Given the description of an element on the screen output the (x, y) to click on. 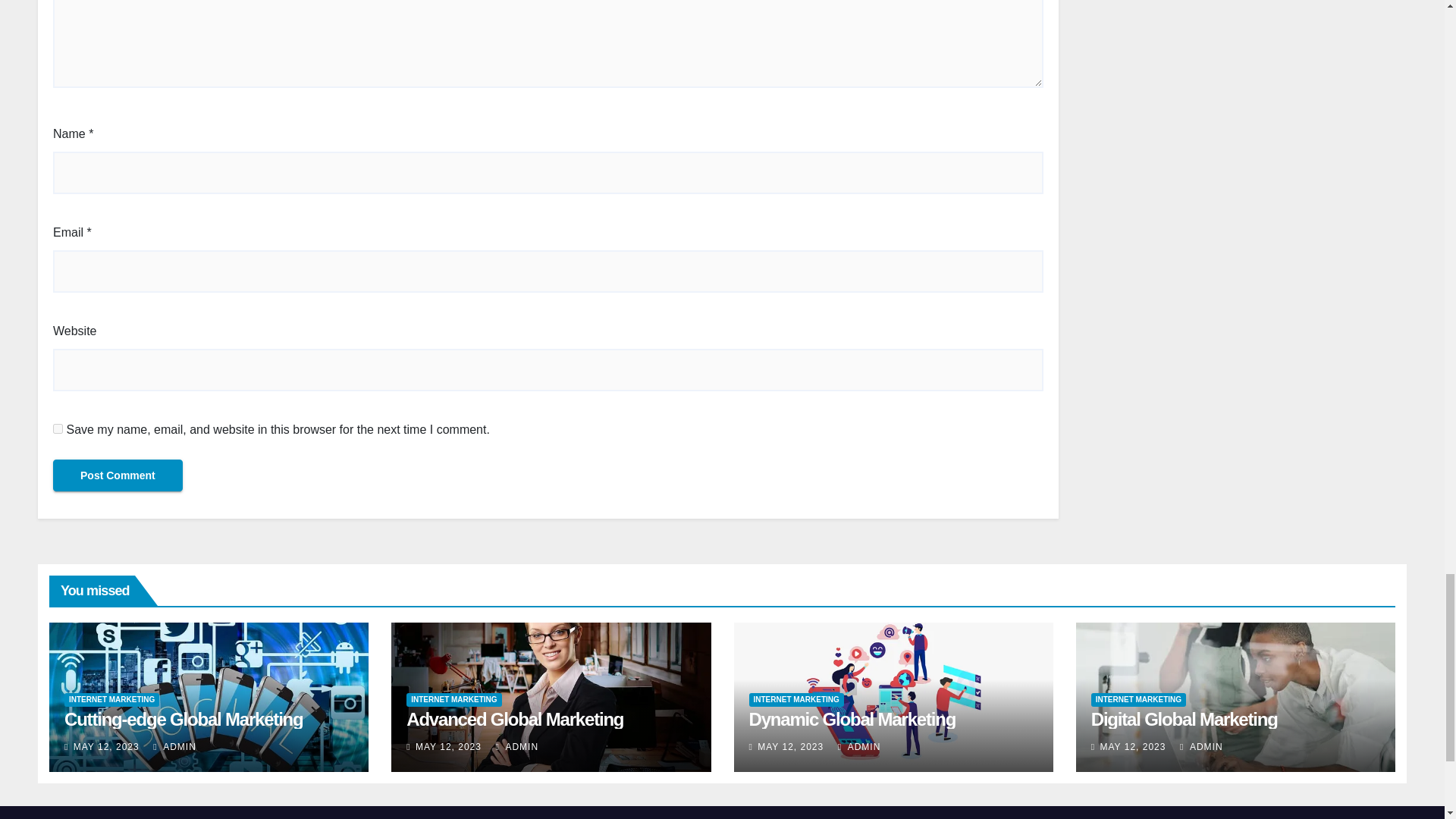
Permalink to: Advanced Global Marketing (514, 719)
Post Comment (117, 475)
Permalink to: Digital Global Marketing (1184, 719)
Permalink to: Cutting-edge Global Marketing (183, 719)
yes (57, 429)
Permalink to: Dynamic Global Marketing (852, 719)
